Given the description of an element on the screen output the (x, y) to click on. 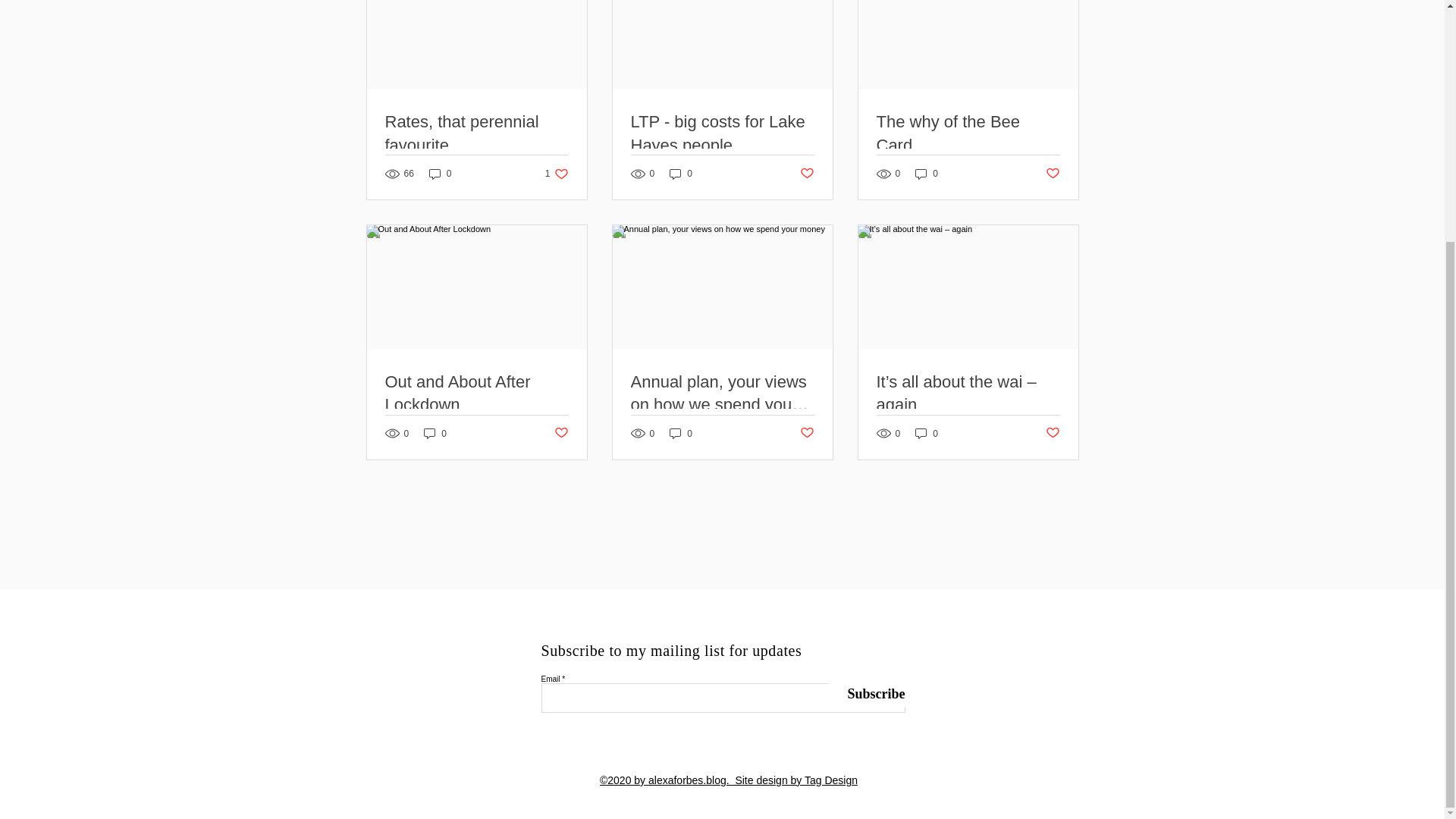
Out and About After Lockdown (477, 394)
0 (440, 173)
0 (926, 432)
0 (435, 432)
Post not marked as liked (806, 173)
Subscribe (866, 694)
The why of the Bee Card (967, 134)
0 (556, 173)
Post not marked as liked (681, 173)
Post not marked as liked (806, 433)
Annual plan, your views on how we spend your money (560, 433)
0 (721, 394)
Post not marked as liked (926, 173)
Post not marked as liked (1052, 433)
